Given the description of an element on the screen output the (x, y) to click on. 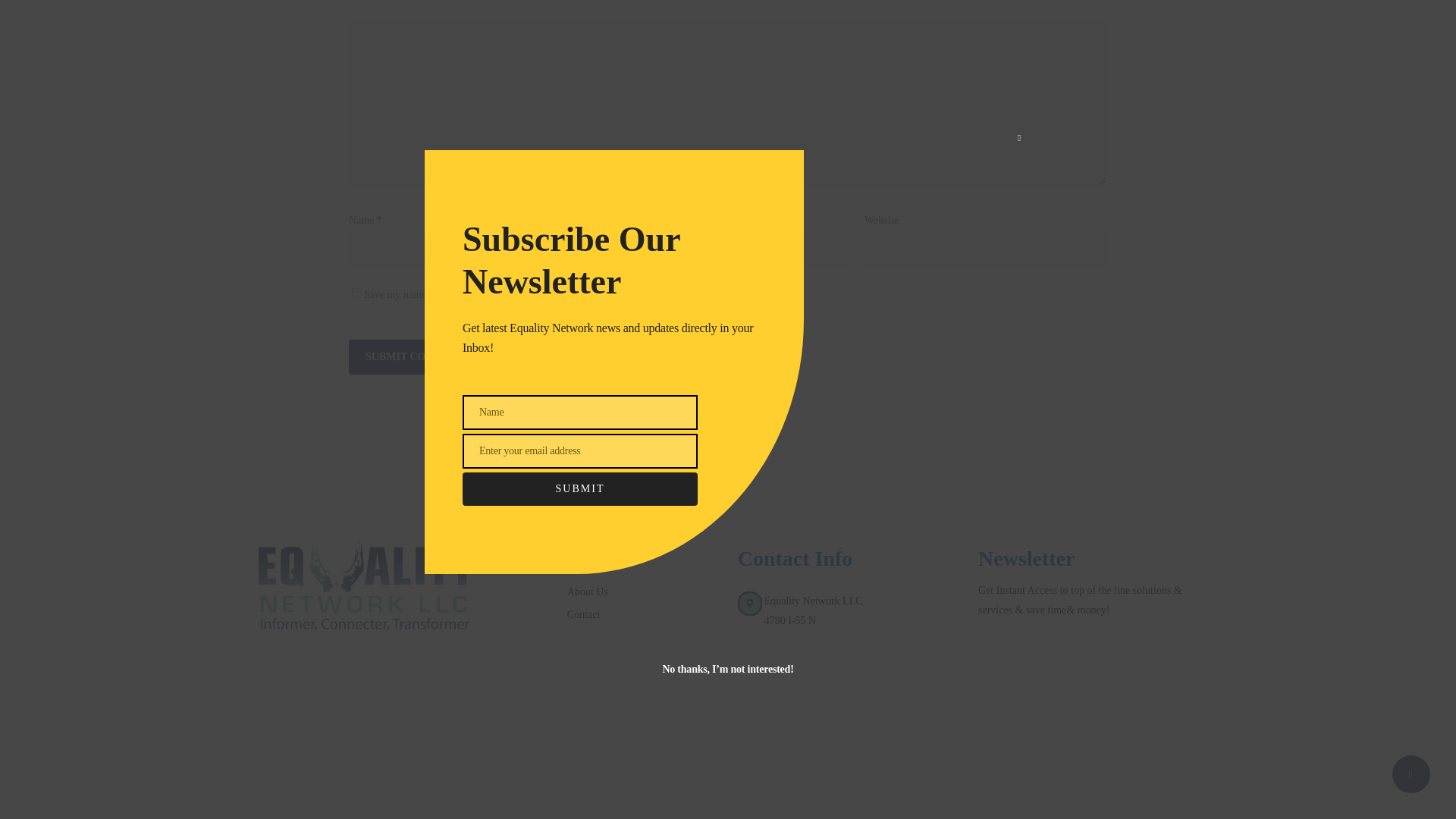
Submit Comment (416, 356)
